Given the description of an element on the screen output the (x, y) to click on. 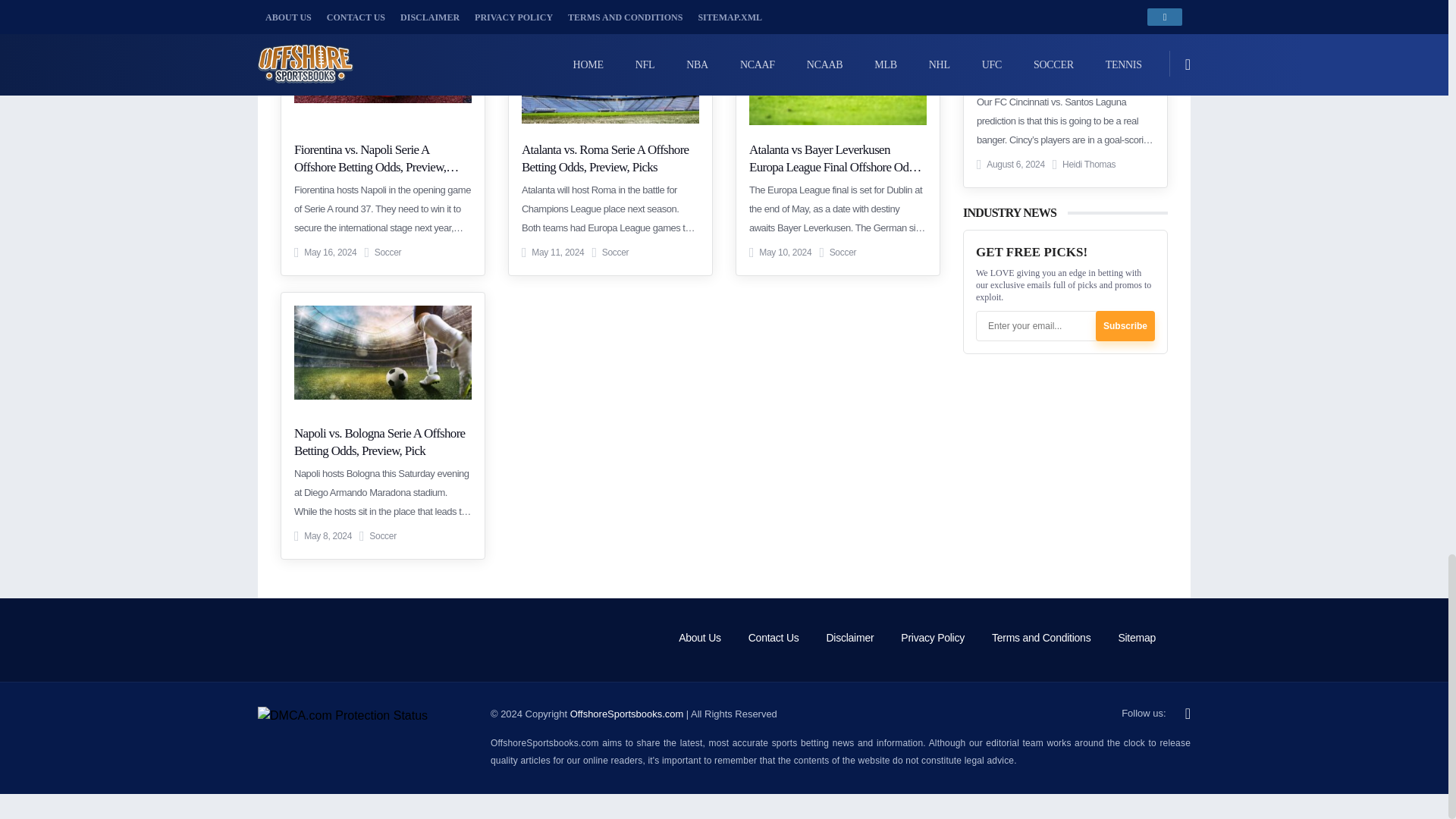
Subscribe (1125, 325)
